Given the description of an element on the screen output the (x, y) to click on. 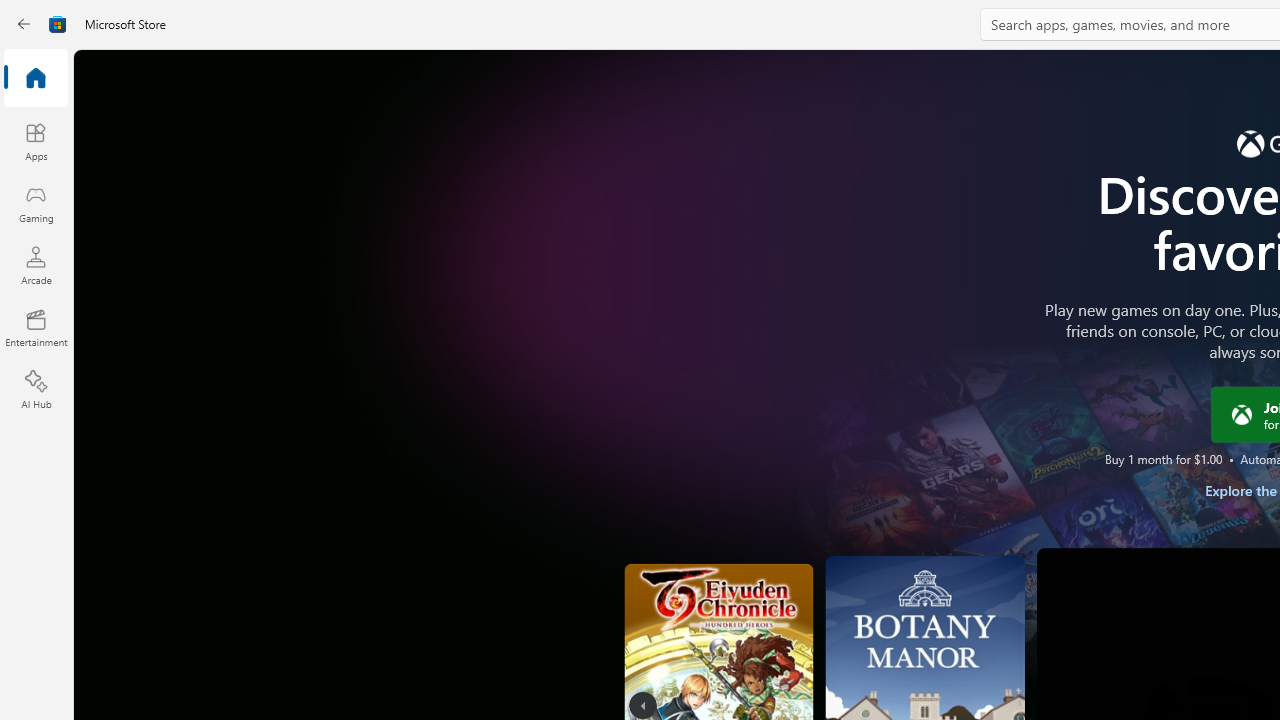
Gaming (35, 203)
AI Hub (35, 390)
Home (35, 79)
Back (24, 24)
Entertainment (35, 327)
Apps (35, 141)
Arcade (35, 265)
Class: Image (1240, 413)
